Given the description of an element on the screen output the (x, y) to click on. 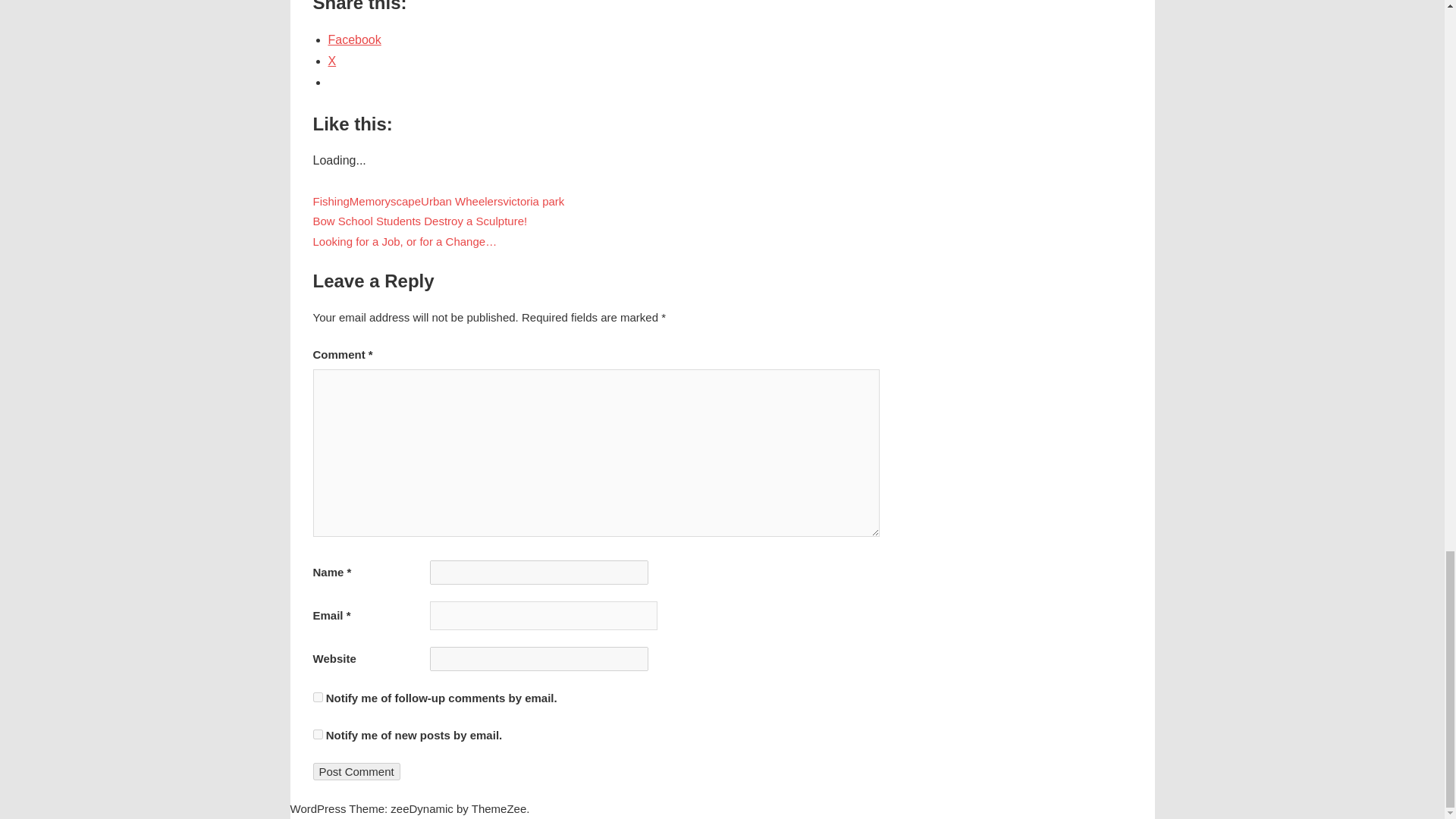
Click to share on Facebook (353, 39)
subscribe (317, 696)
Urban Wheelers (461, 201)
subscribe (317, 734)
Memoryscape (384, 201)
Post Comment (355, 771)
Post Comment (355, 771)
victoria park (533, 201)
Fishing (331, 201)
Facebook (353, 39)
